Given the description of an element on the screen output the (x, y) to click on. 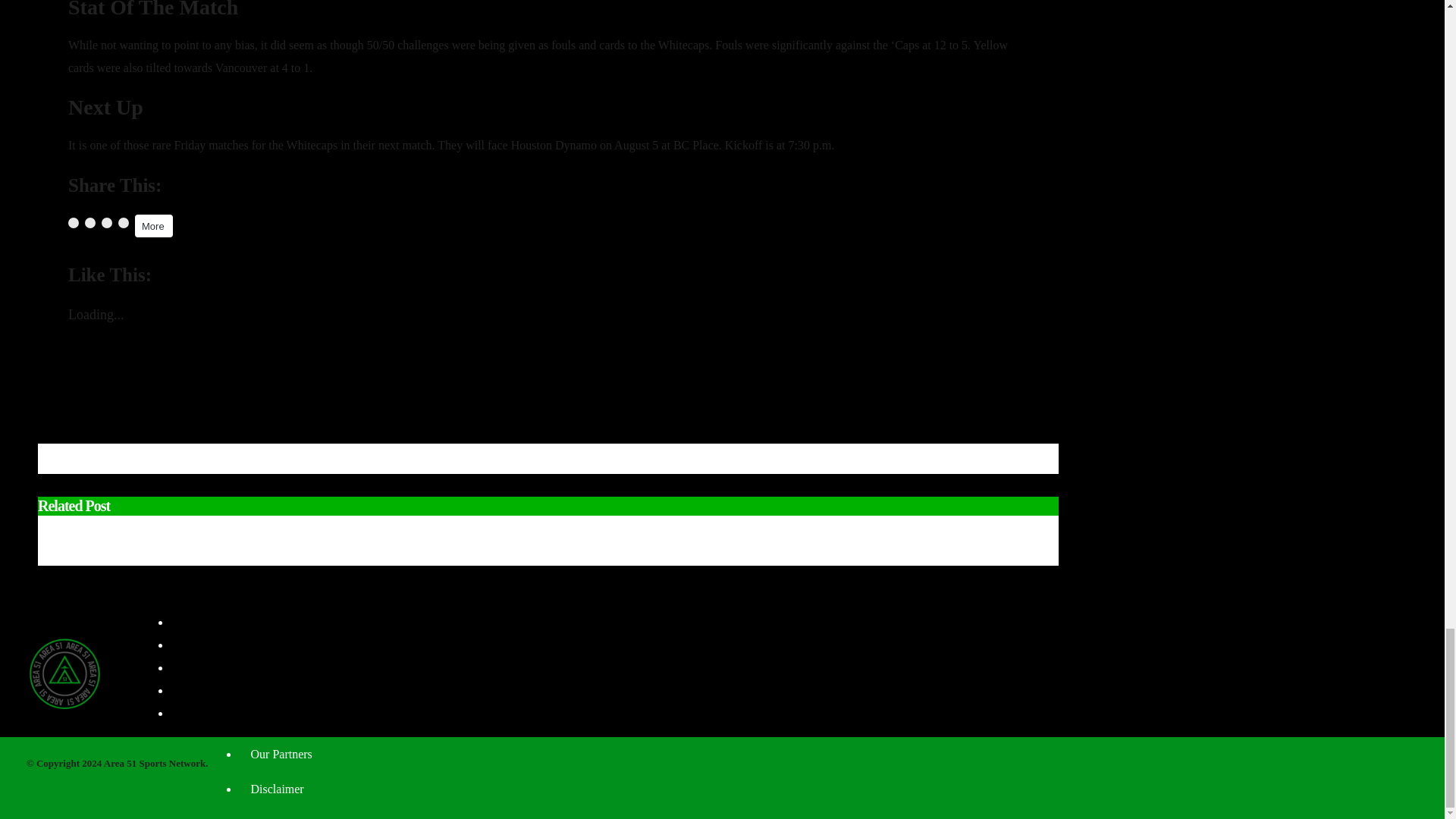
Click to share on LinkedIn (106, 222)
More (154, 225)
Click to share on X (90, 222)
Click to share on Threads (123, 222)
Click to share on Facebook (73, 222)
